Given the description of an element on the screen output the (x, y) to click on. 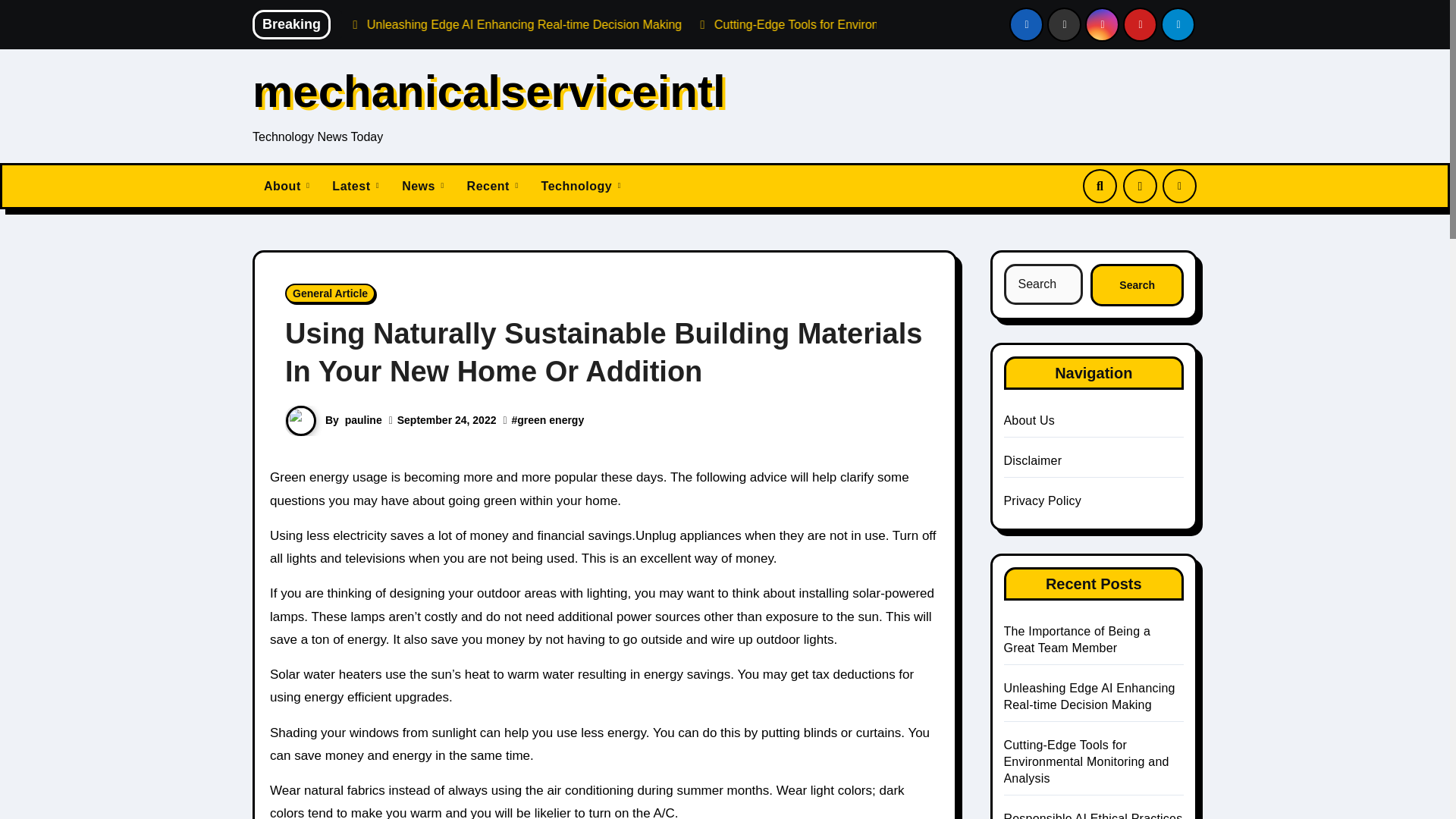
Search (1136, 284)
News (422, 187)
Latest (355, 187)
Latest (355, 187)
About (285, 187)
The Importance of Being a Great Team Member (393, 24)
Search (1136, 284)
News (422, 187)
mechanicalserviceintl (488, 91)
Recent (492, 187)
